Given the description of an element on the screen output the (x, y) to click on. 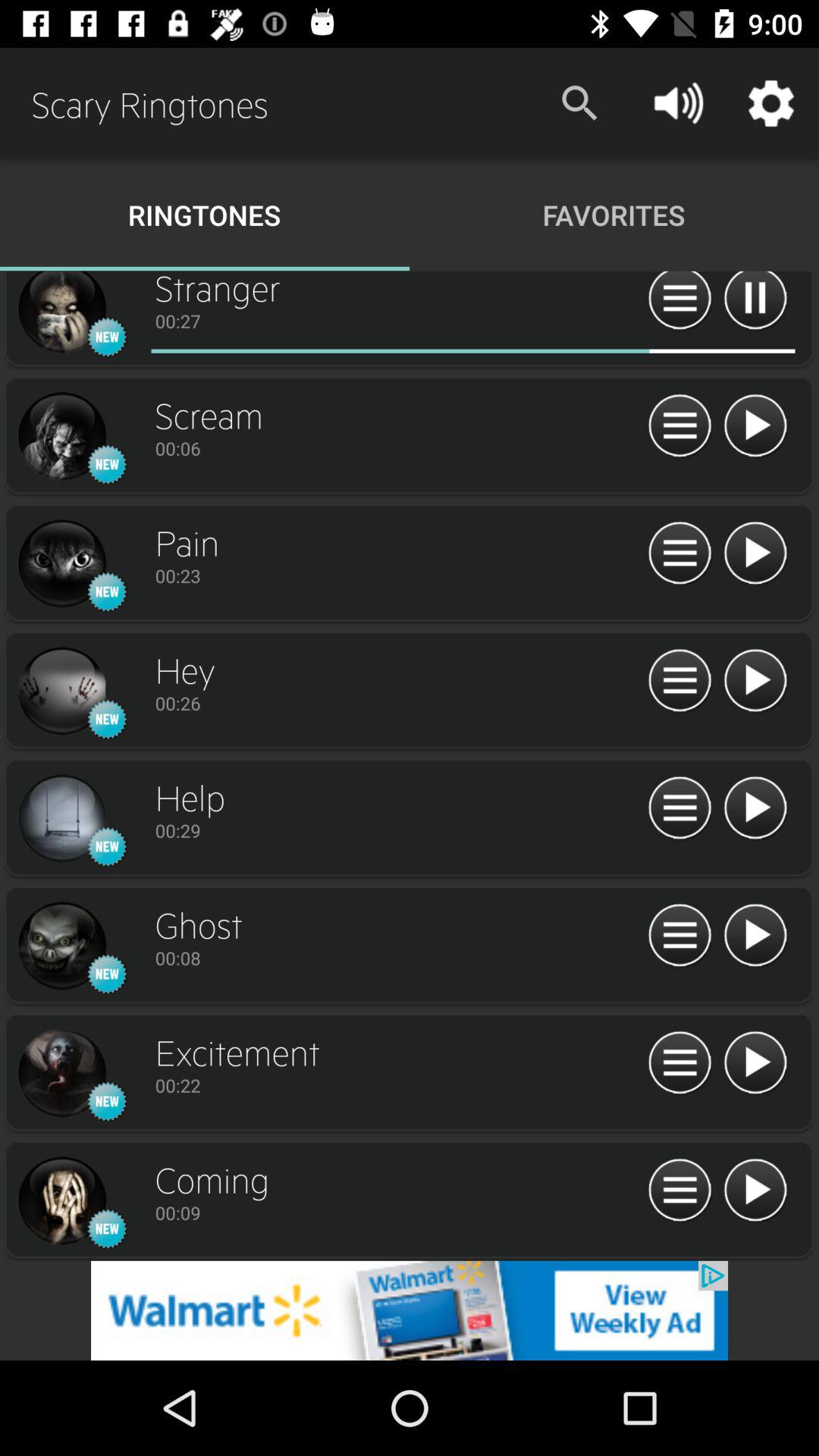
menu option (679, 935)
